Given the description of an element on the screen output the (x, y) to click on. 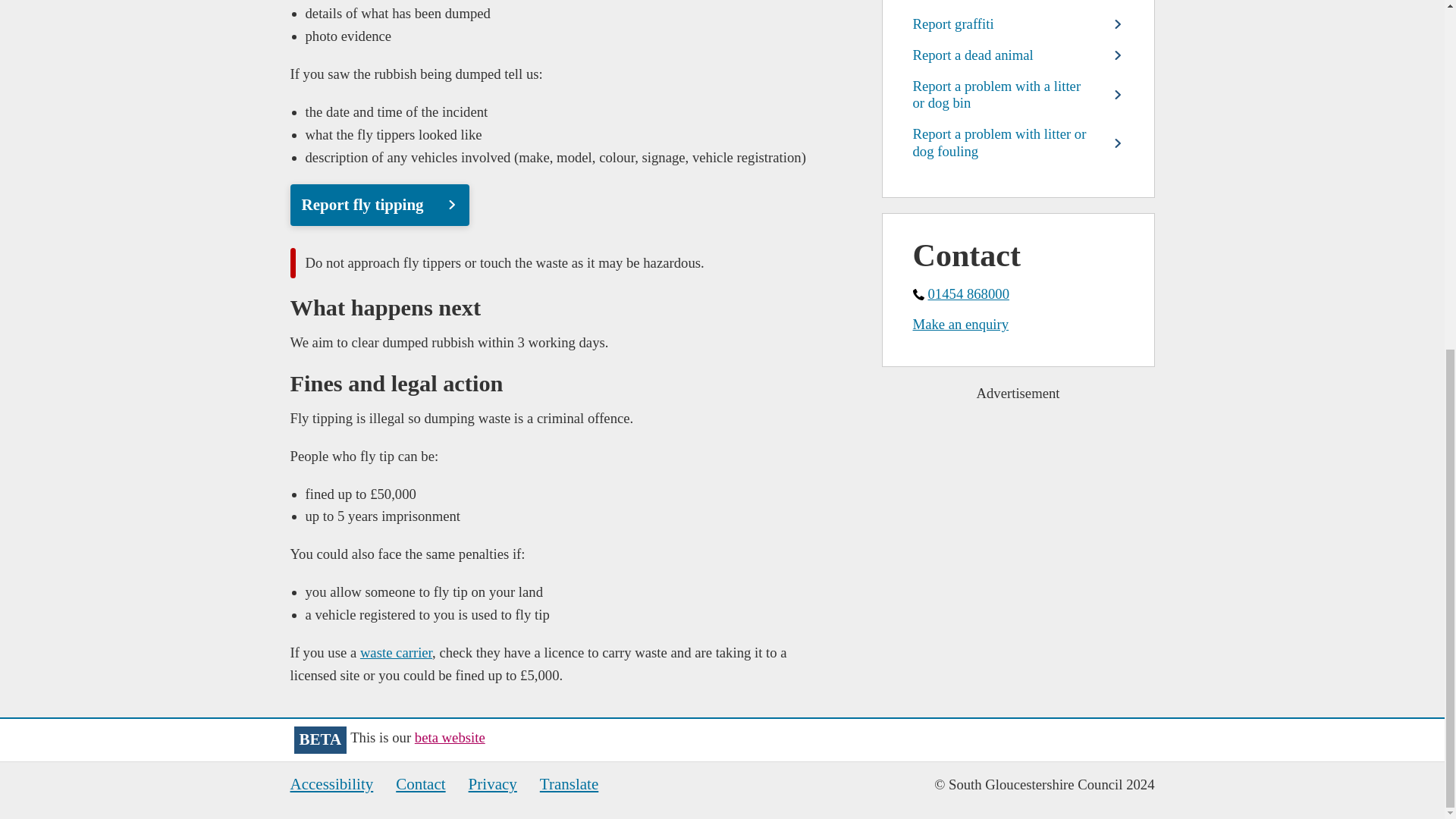
Read about our new beta website (449, 737)
Call us (1018, 293)
Make an enquiry (1018, 323)
